Given the description of an element on the screen output the (x, y) to click on. 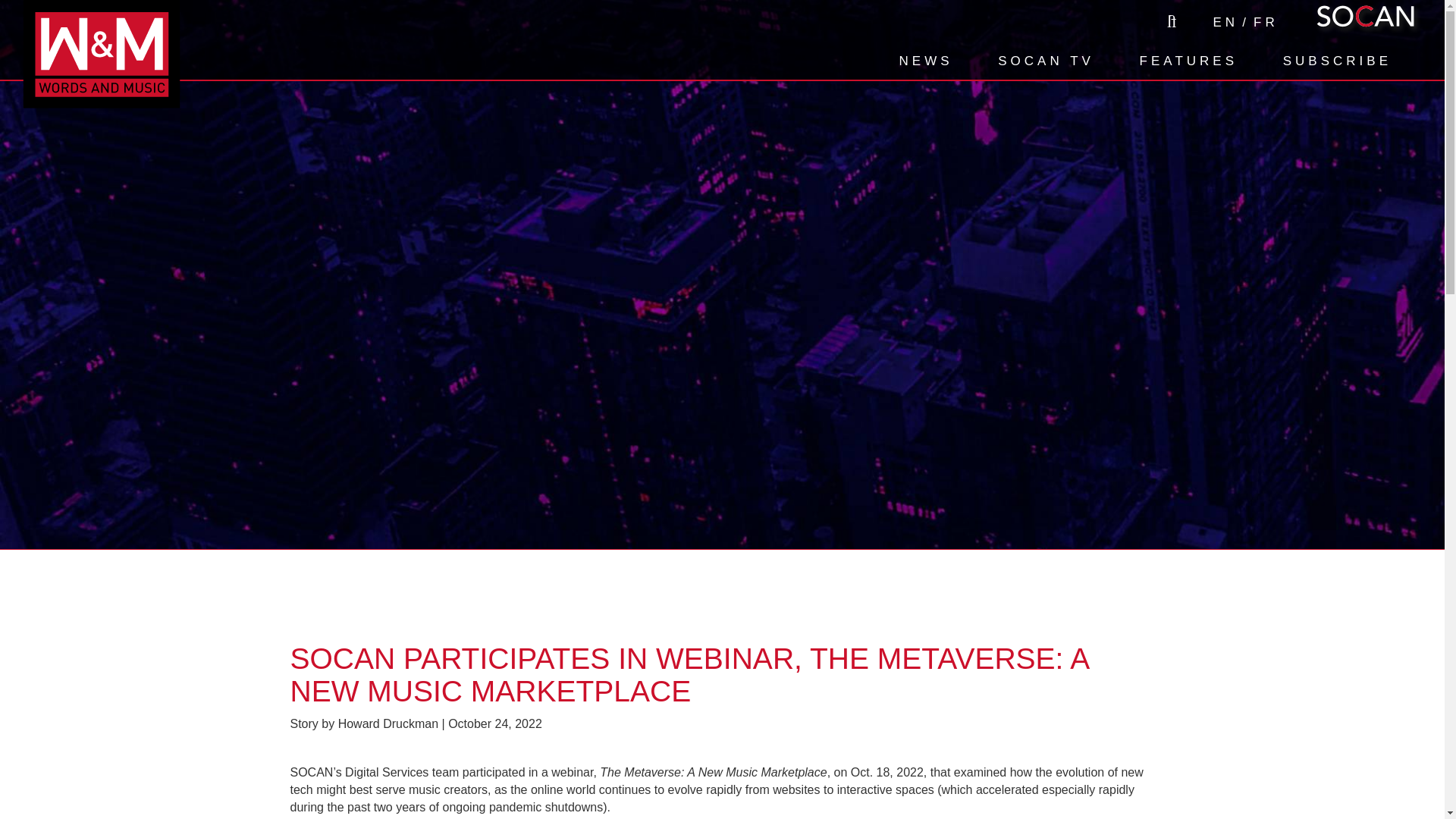
SOCAN TV (1045, 60)
FEATURES (1188, 60)
EN (1225, 22)
NEWS (926, 60)
FR (1265, 22)
SEARCH TOGGLE (1169, 21)
